Given the description of an element on the screen output the (x, y) to click on. 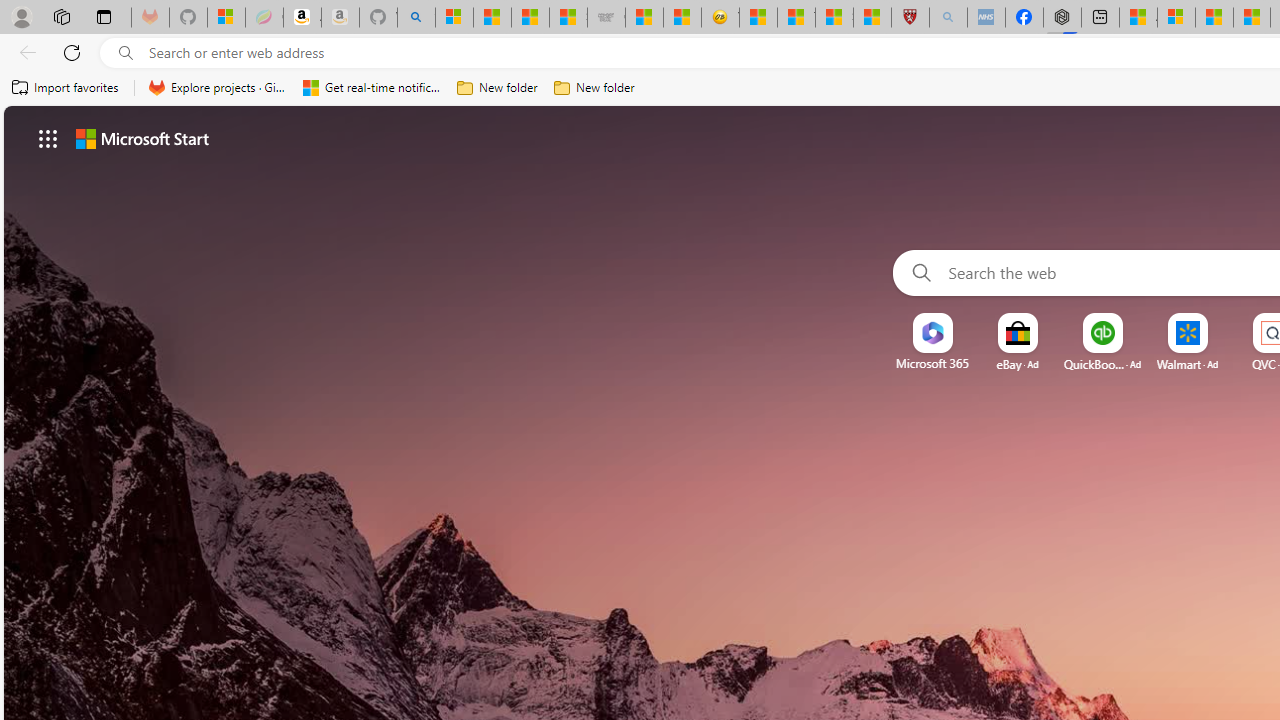
App launcher (47, 138)
New folder (594, 88)
